Given the description of an element on the screen output the (x, y) to click on. 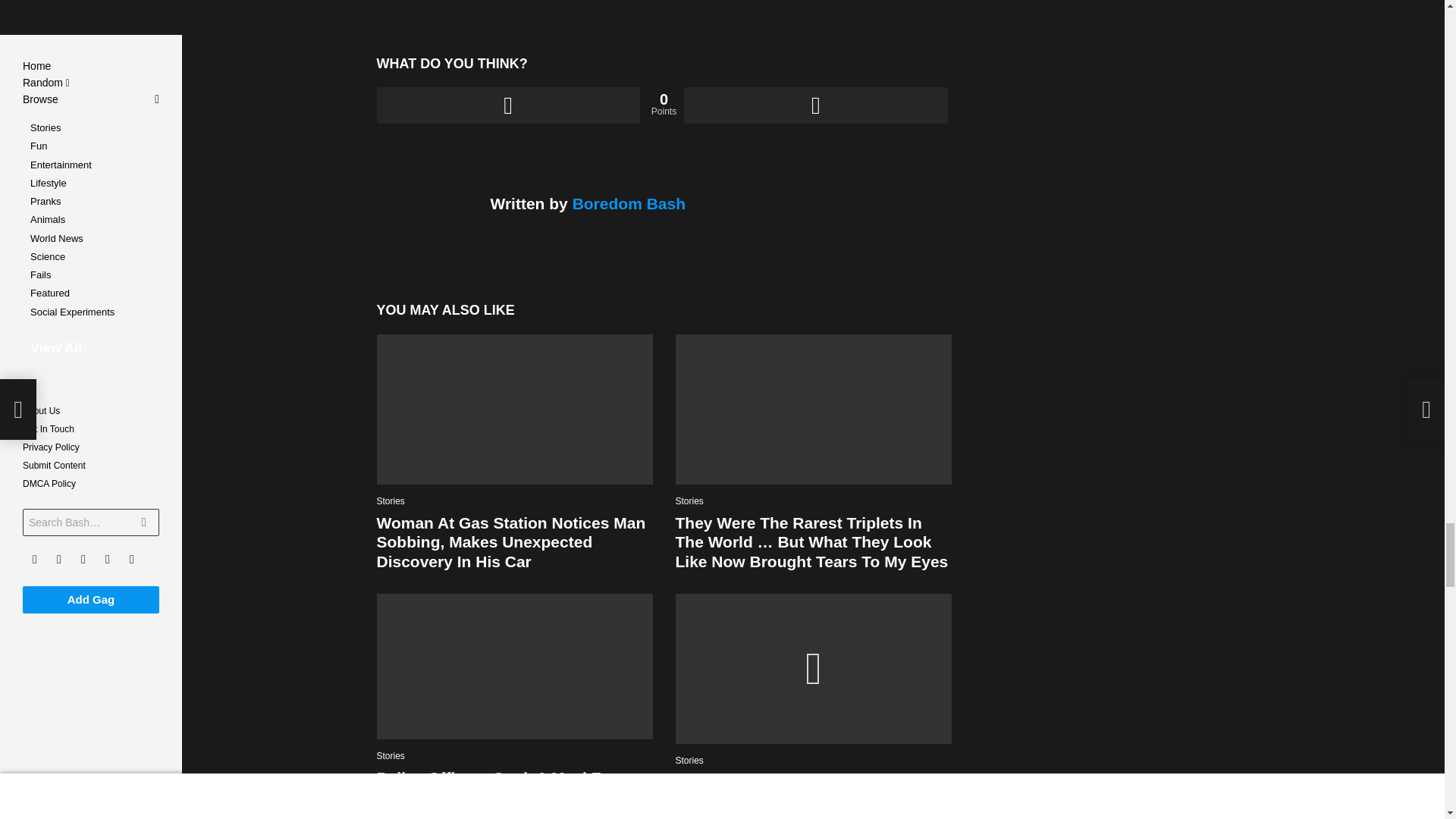
Downvote (815, 104)
Upvote (507, 104)
